Given the description of an element on the screen output the (x, y) to click on. 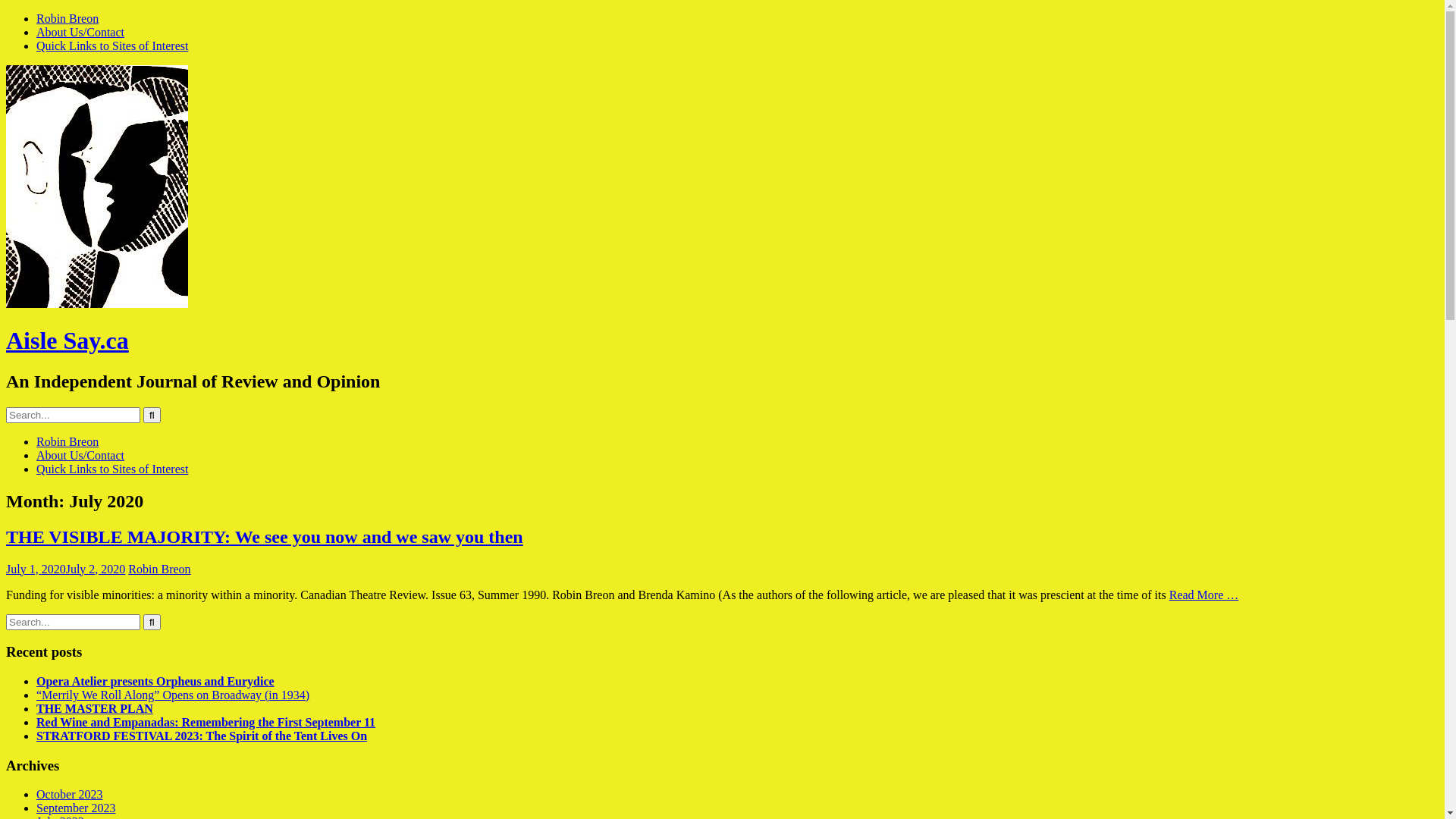
July 1, 2020July 2, 2020 Element type: text (65, 568)
About Us/Contact Element type: text (80, 454)
Quick Links to Sites of Interest Element type: text (112, 468)
Red Wine and Empanadas: Remembering the First September 11 Element type: text (205, 721)
Robin Breon Element type: text (159, 568)
Robin Breon Element type: text (67, 441)
Aisle Say.ca Element type: text (67, 340)
Robin Breon Element type: text (67, 18)
STRATFORD FESTIVAL 2023: The Spirit of the Tent Lives On Element type: text (201, 735)
THE MASTER PLAN Element type: text (94, 708)
THE VISIBLE MAJORITY: We see you now and we saw you then Element type: text (264, 536)
September 2023 Element type: text (75, 807)
About Us/Contact Element type: text (80, 31)
Quick Links to Sites of Interest Element type: text (112, 45)
Opera Atelier presents Orpheus and Eurydice Element type: text (155, 680)
Skip to content Element type: text (5, 11)
October 2023 Element type: text (69, 793)
